Given the description of an element on the screen output the (x, y) to click on. 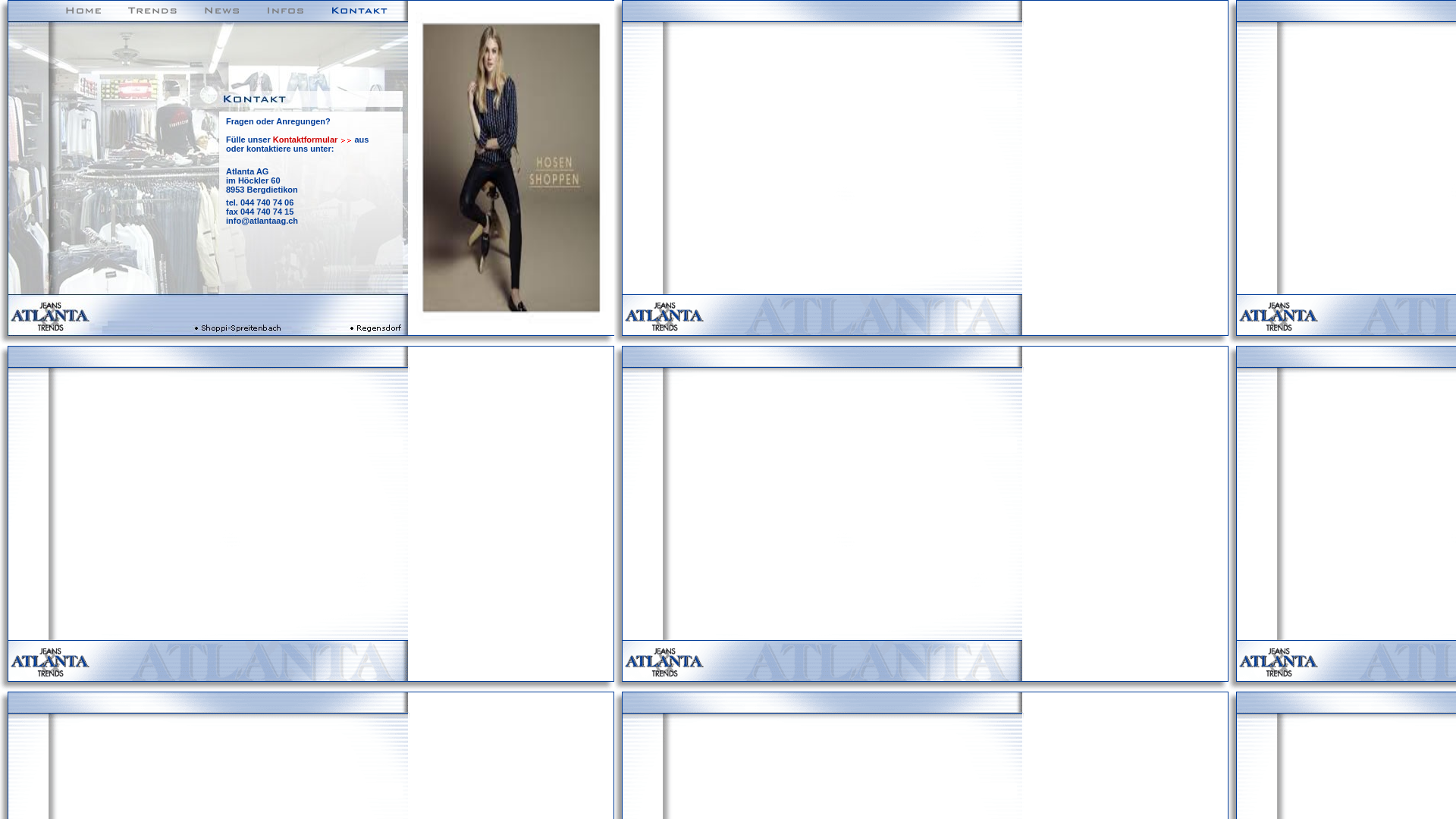
Kontaktformular Element type: text (312, 139)
info@atlantaag.ch Element type: text (261, 220)
? Element type: text (327, 120)
